Given the description of an element on the screen output the (x, y) to click on. 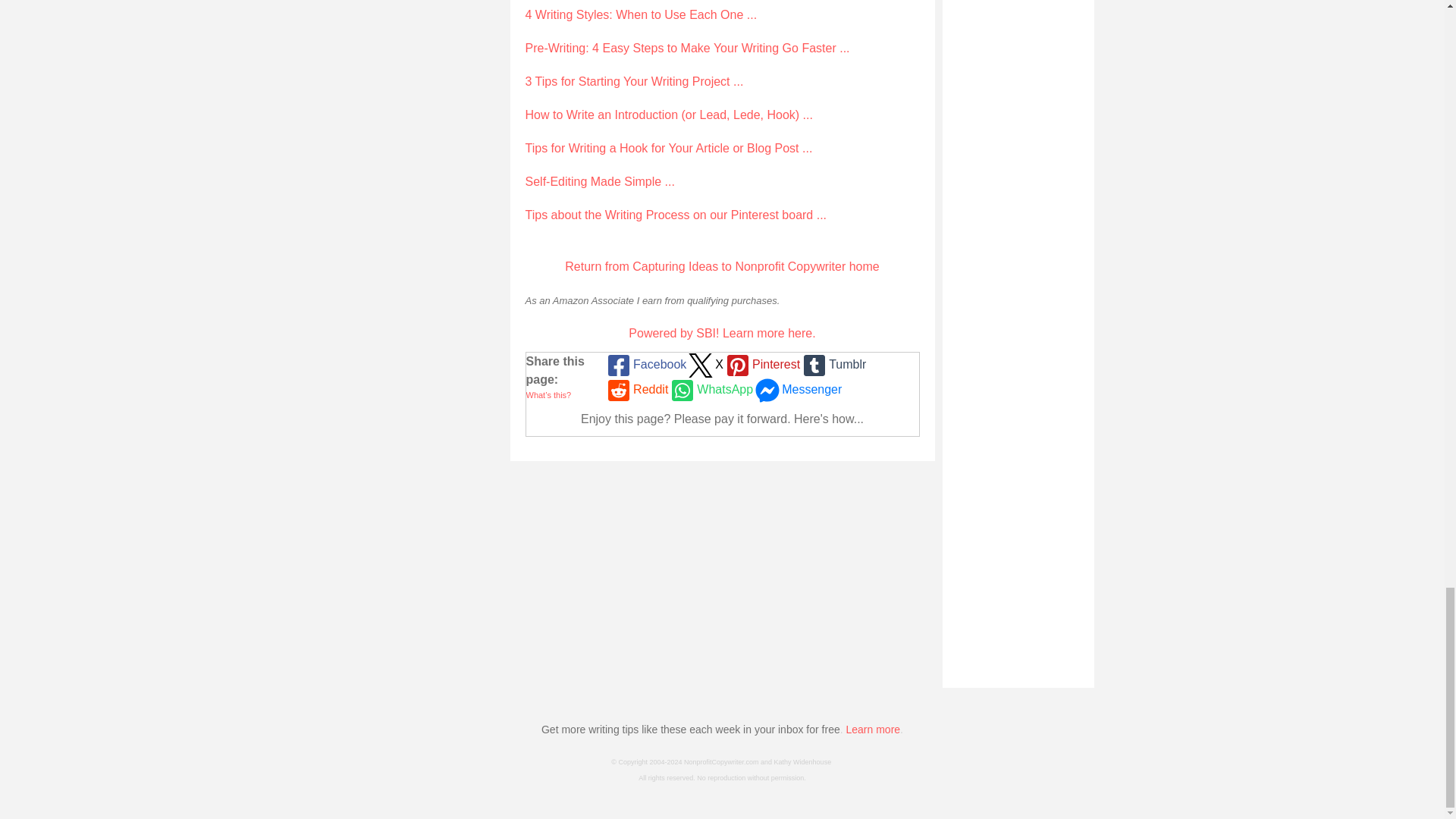
Pre-Writing: 4 Easy Steps to Make Your Writing Go Faster ... (686, 47)
Reddit (636, 389)
X (704, 364)
Messenger (796, 389)
Self-Editing Made Simple ... (599, 181)
3 Tips for Starting Your Writing Project ... (633, 81)
Facebook (644, 364)
Pinterest (761, 364)
WhatsApp (710, 389)
Tips for Writing a Hook for Your Article or Blog Post ... (668, 147)
Powered by SBI! Learn more here. (721, 332)
Return from Capturing Ideas to Nonprofit Copywriter home (721, 266)
Tips about the Writing Process on our Pinterest board ... (675, 214)
Tumblr (832, 364)
4 Writing Styles: When to Use Each One ... (640, 14)
